Given the description of an element on the screen output the (x, y) to click on. 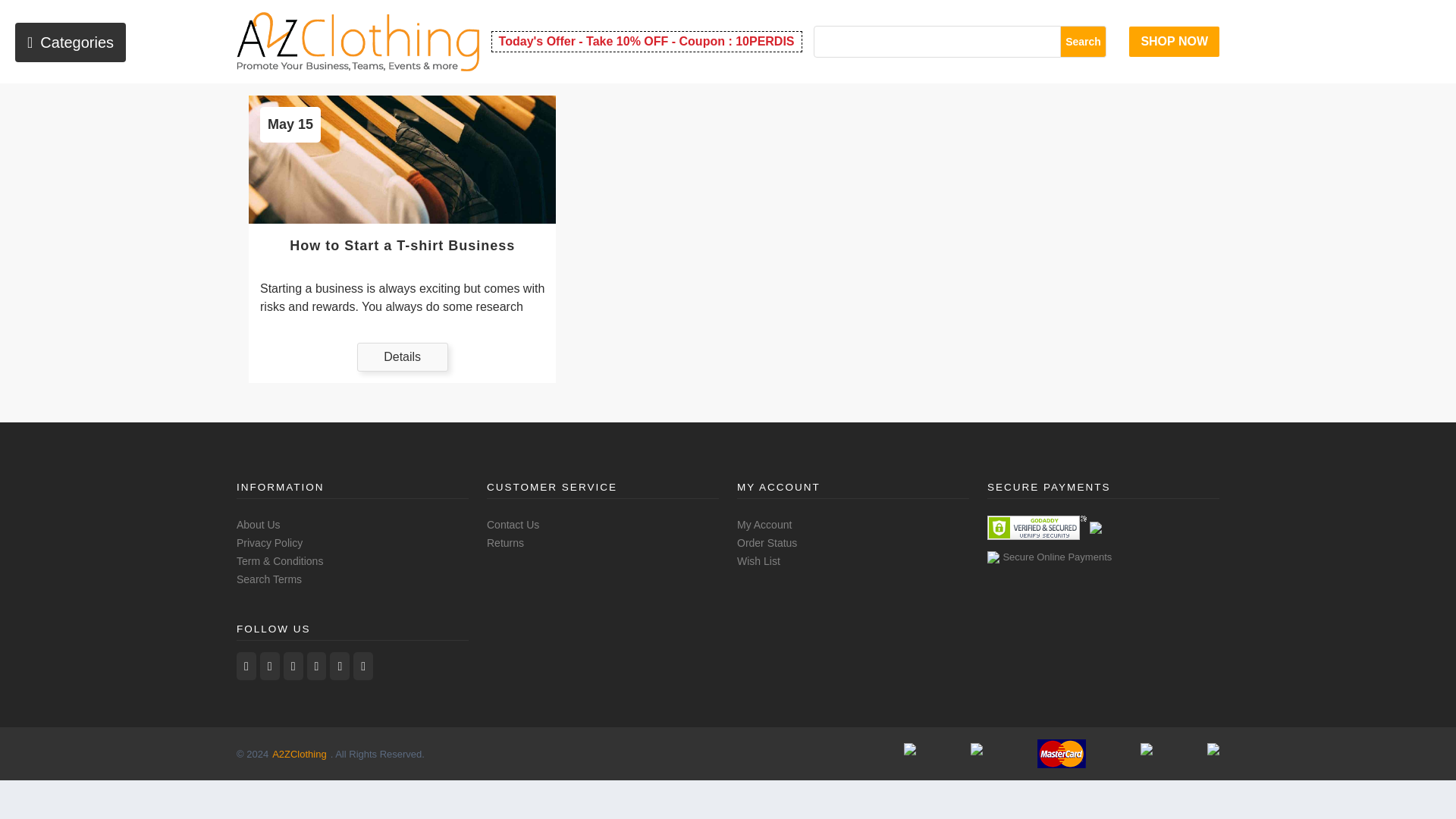
Order Status (766, 542)
About Us (258, 524)
Contact Us (512, 524)
A2ZClothing (299, 754)
Search (1083, 41)
My Account (764, 524)
Search Terms (268, 579)
Wish List (758, 561)
SHOP NOW (1174, 41)
Details (402, 357)
